Given the description of an element on the screen output the (x, y) to click on. 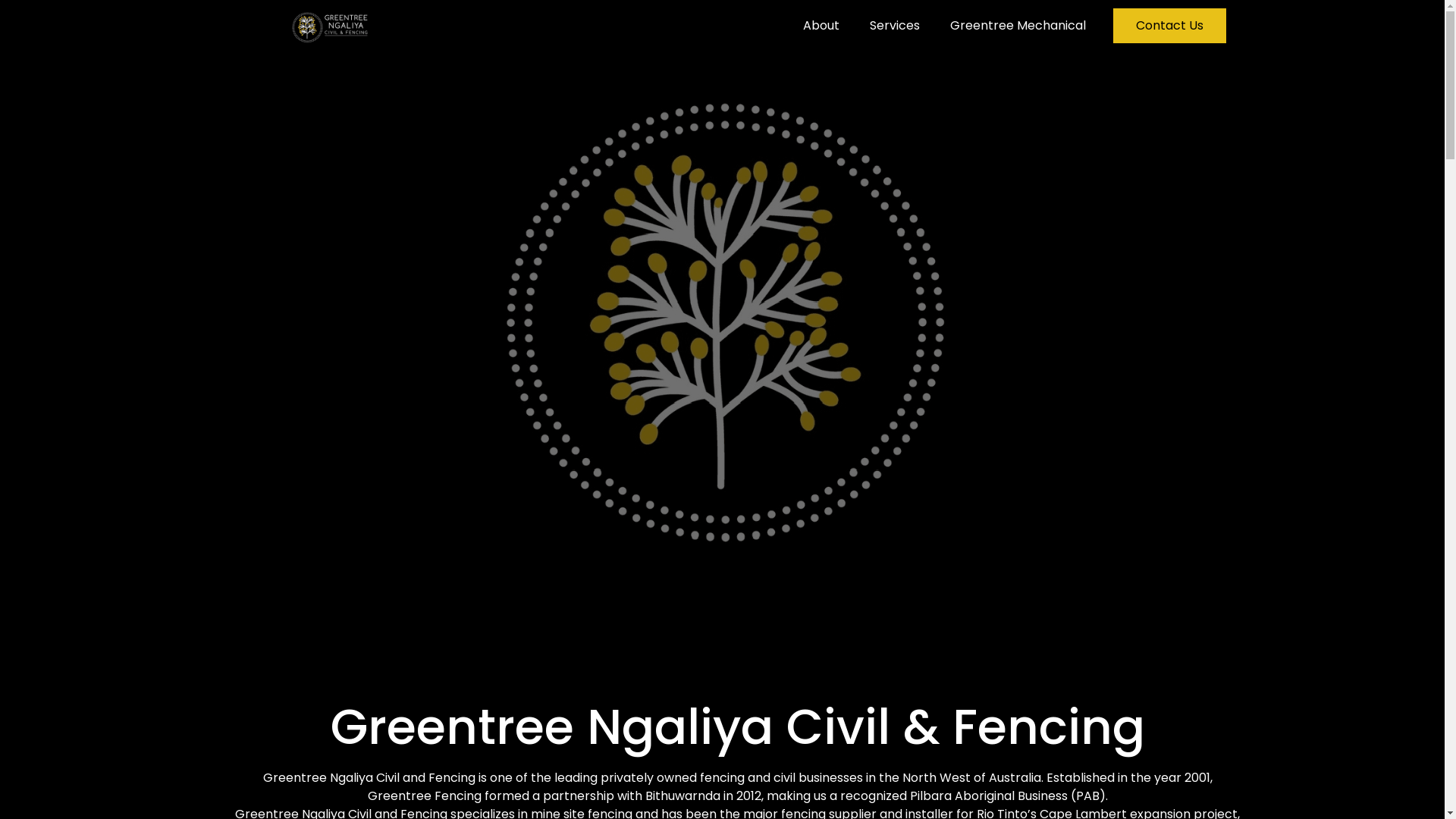
Services Element type: text (894, 25)
Greentree Mechanical Element type: text (1018, 25)
Contact Us Element type: text (1169, 25)
Home - fencing supplier Element type: hover (722, 315)
About Element type: text (820, 25)
